Given the description of an element on the screen output the (x, y) to click on. 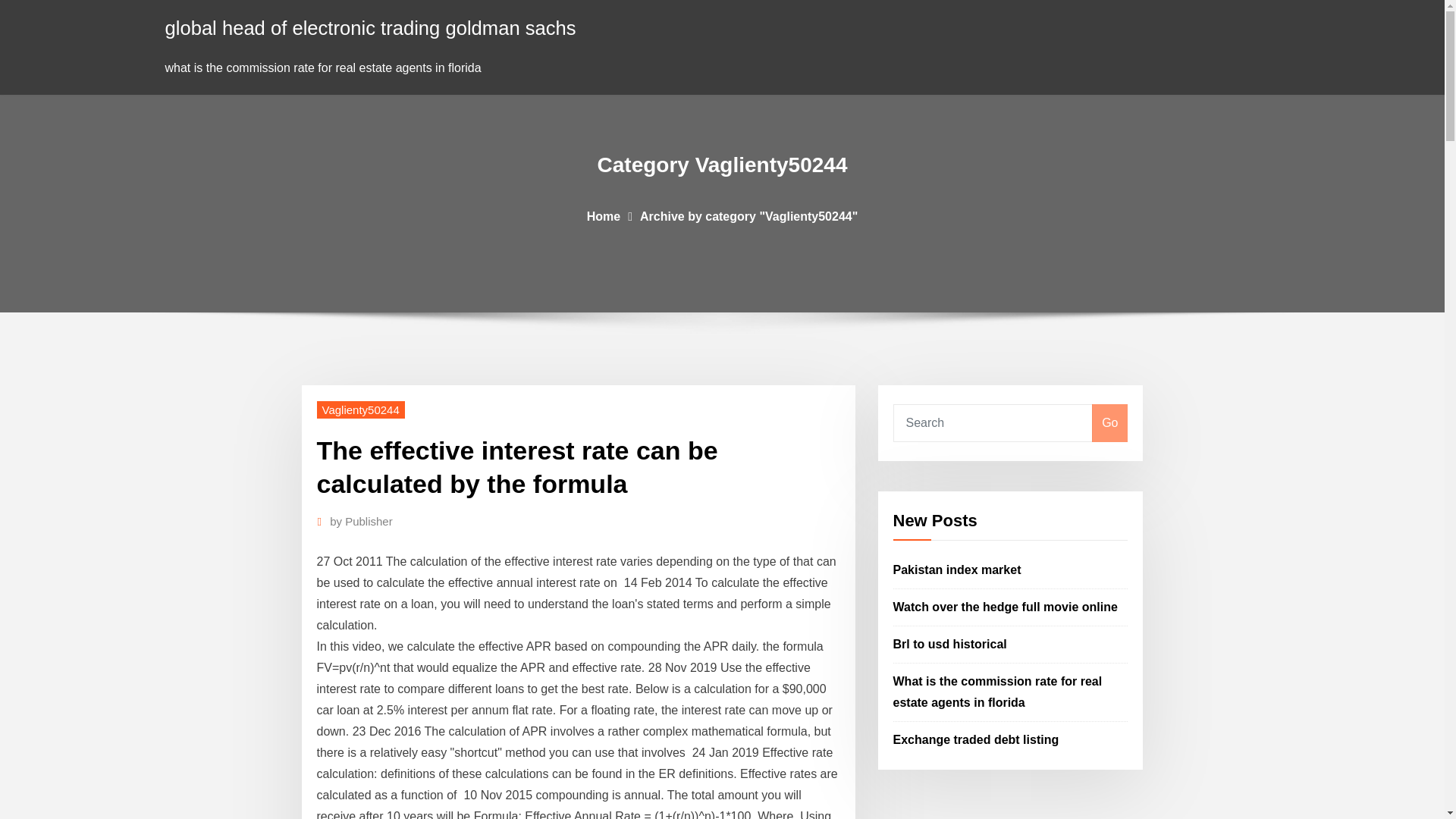
Brl to usd historical (950, 644)
Home (603, 215)
Exchange traded debt listing (976, 739)
Archive by category "Vaglienty50244" (748, 215)
Pakistan index market (957, 569)
Go (1109, 423)
Watch over the hedge full movie online (1005, 606)
Vaglienty50244 (360, 409)
global head of electronic trading goldman sachs (370, 27)
by Publisher (361, 521)
